Given the description of an element on the screen output the (x, y) to click on. 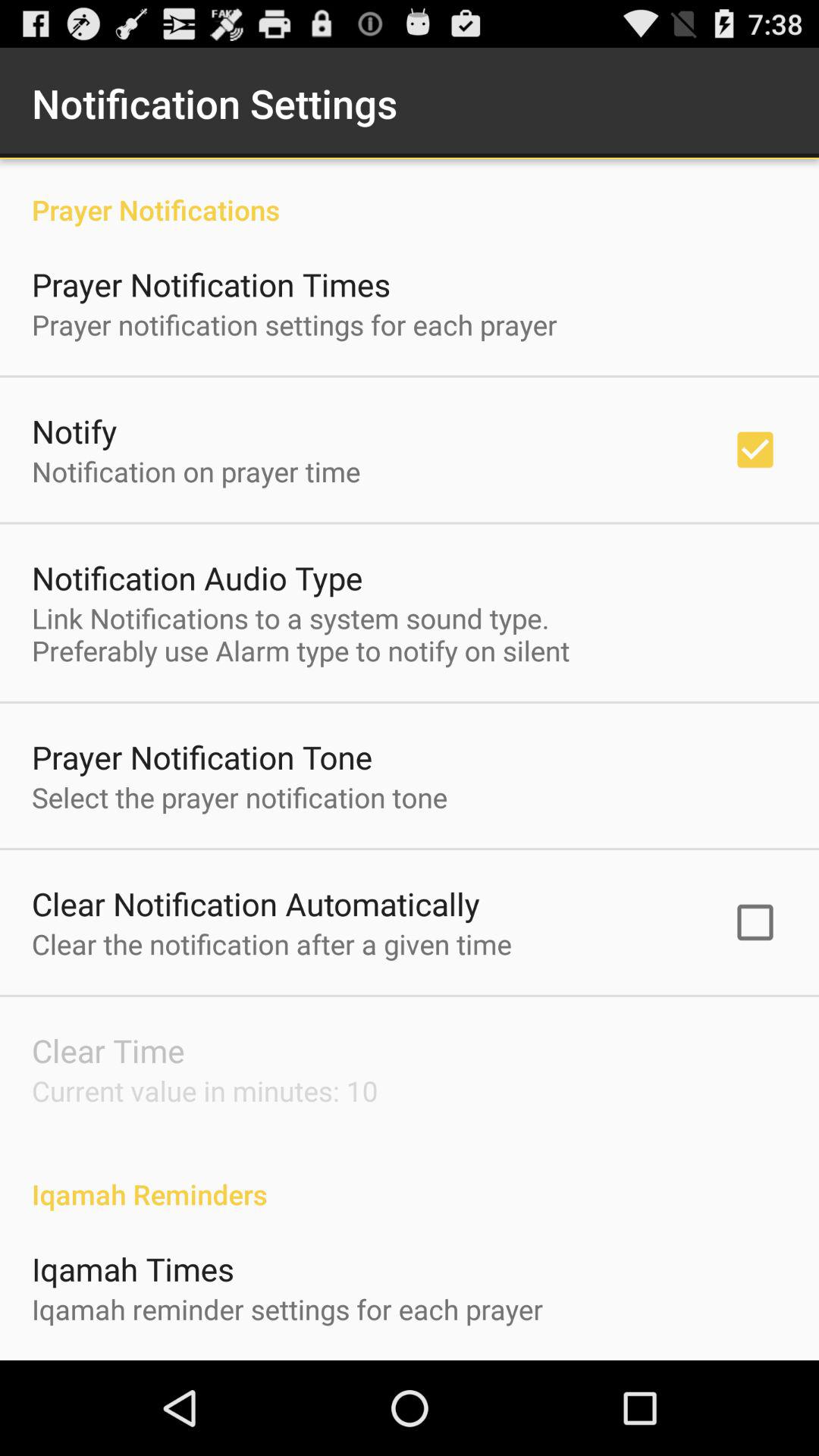
flip until iqamah reminder settings app (287, 1309)
